Given the description of an element on the screen output the (x, y) to click on. 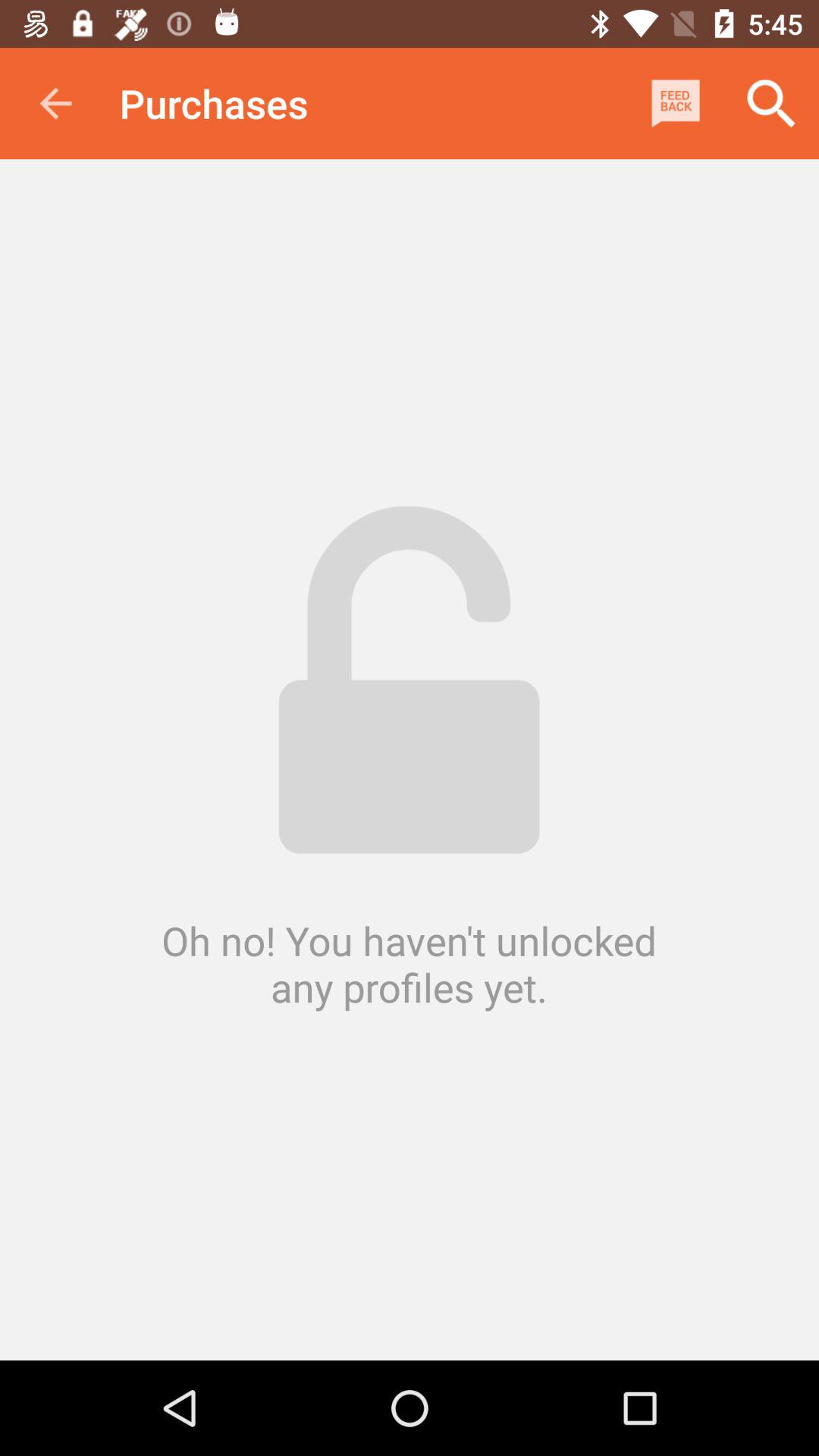
click the icon next to purchases app (55, 103)
